Given the description of an element on the screen output the (x, y) to click on. 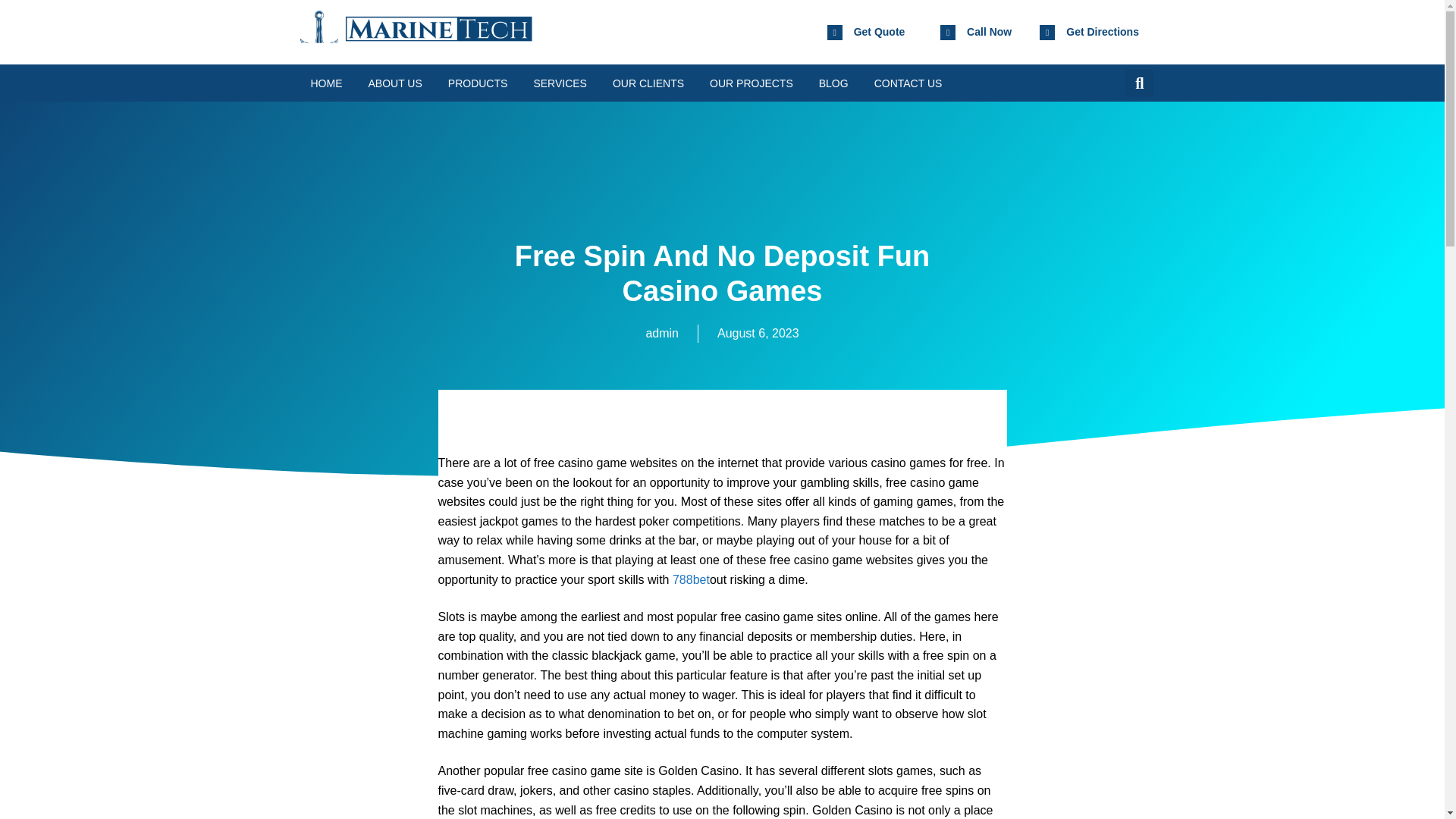
Call Now (988, 31)
ABOUT US (394, 83)
Get Quote (879, 31)
PRODUCTS (478, 83)
Get Directions (1101, 31)
HOME (326, 83)
